Given the description of an element on the screen output the (x, y) to click on. 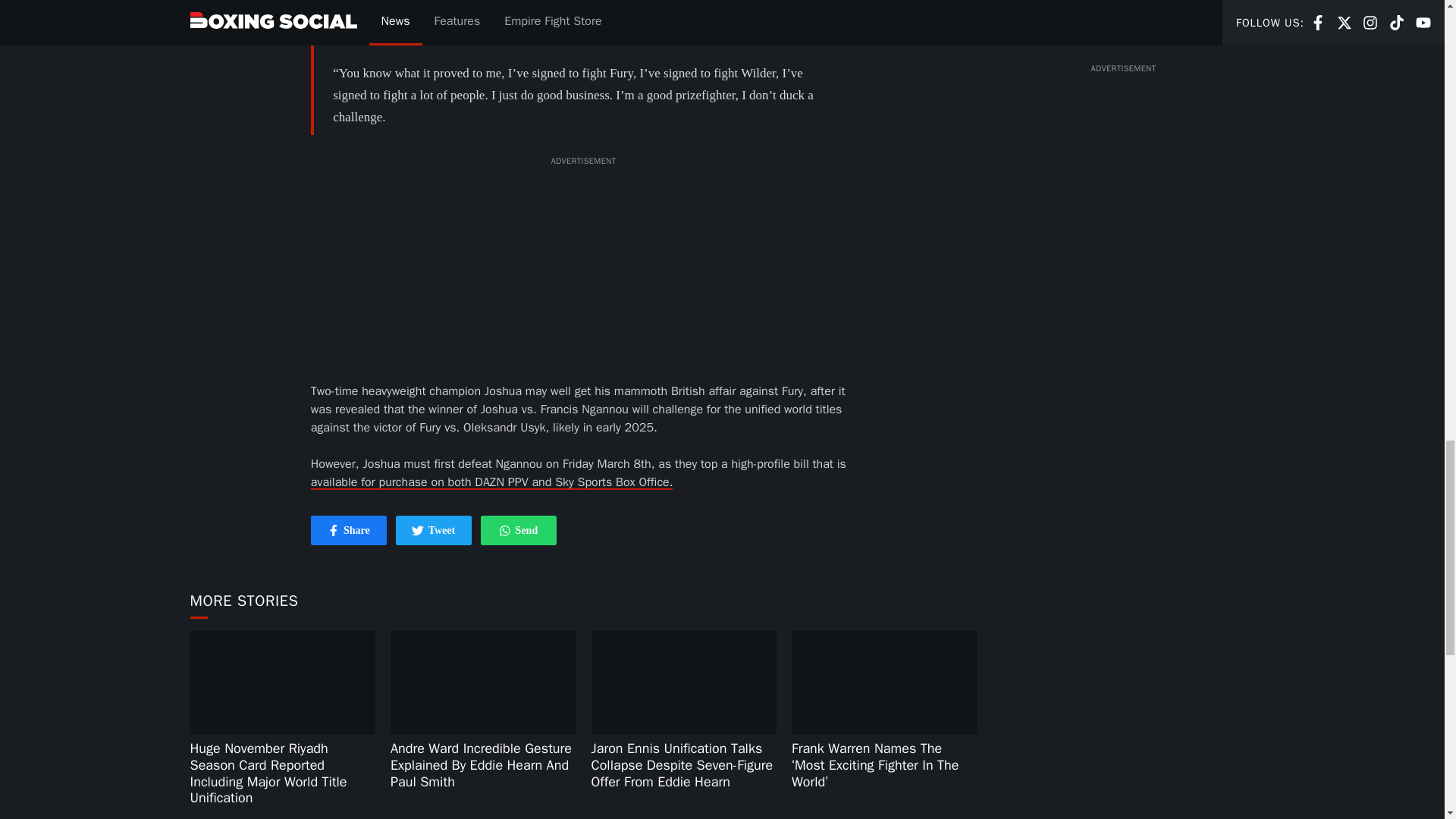
Facebook (433, 530)
WhatsApp (518, 530)
Twitter (333, 530)
